Given the description of an element on the screen output the (x, y) to click on. 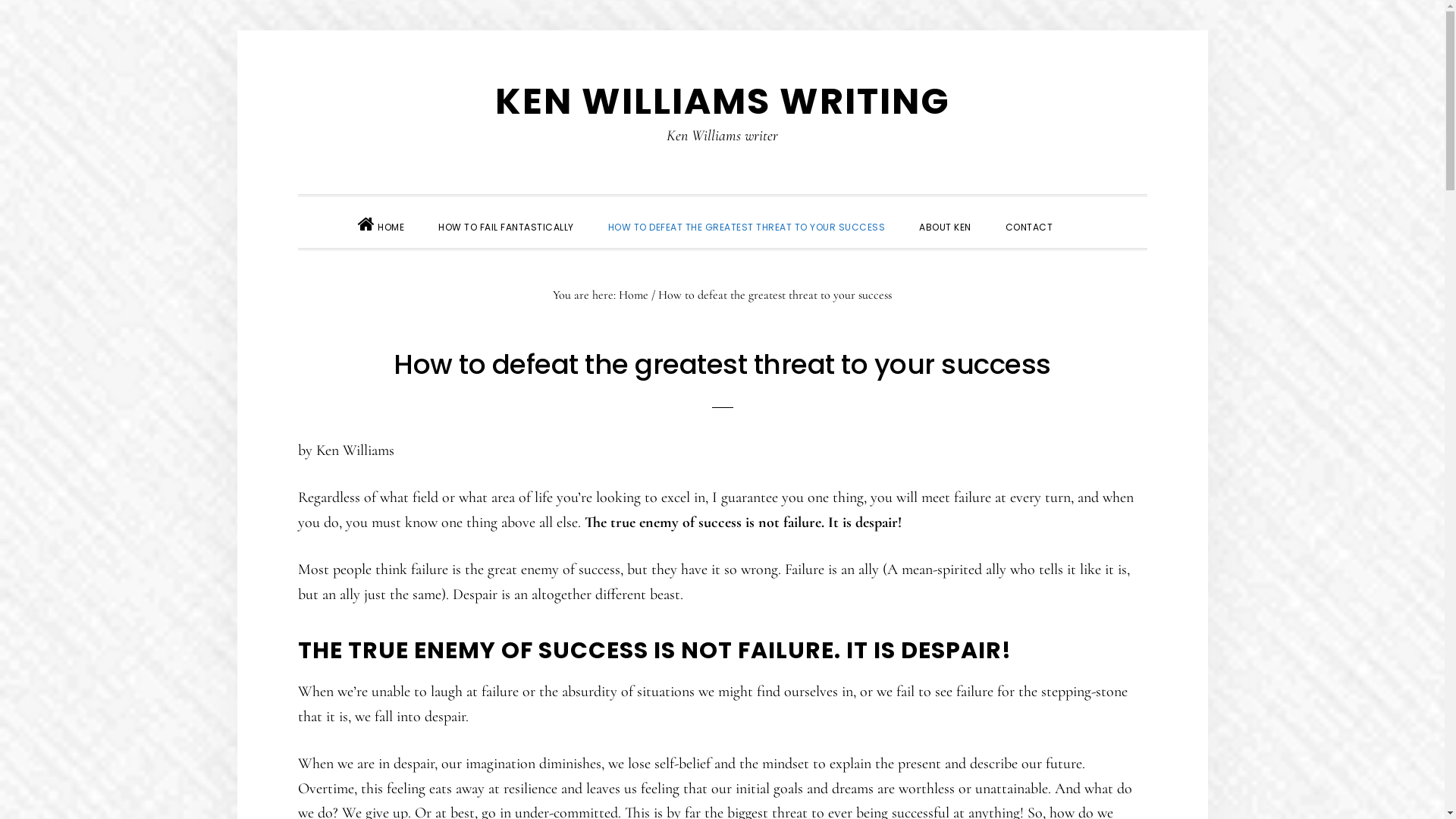
KEN WILLIAMS WRITING Element type: text (721, 100)
Home Element type: text (633, 293)
Skip to primary navigation Element type: text (297, 30)
HOW TO FAIL FANTASTICALLY Element type: text (506, 225)
HOW TO DEFEAT THE GREATEST THREAT TO YOUR SUCCESS Element type: text (746, 225)
SHOW SEARCH Element type: text (1086, 213)
ABOUT KEN Element type: text (944, 225)
CONTACT Element type: text (1029, 225)
HOME Element type: text (380, 221)
